Given the description of an element on the screen output the (x, y) to click on. 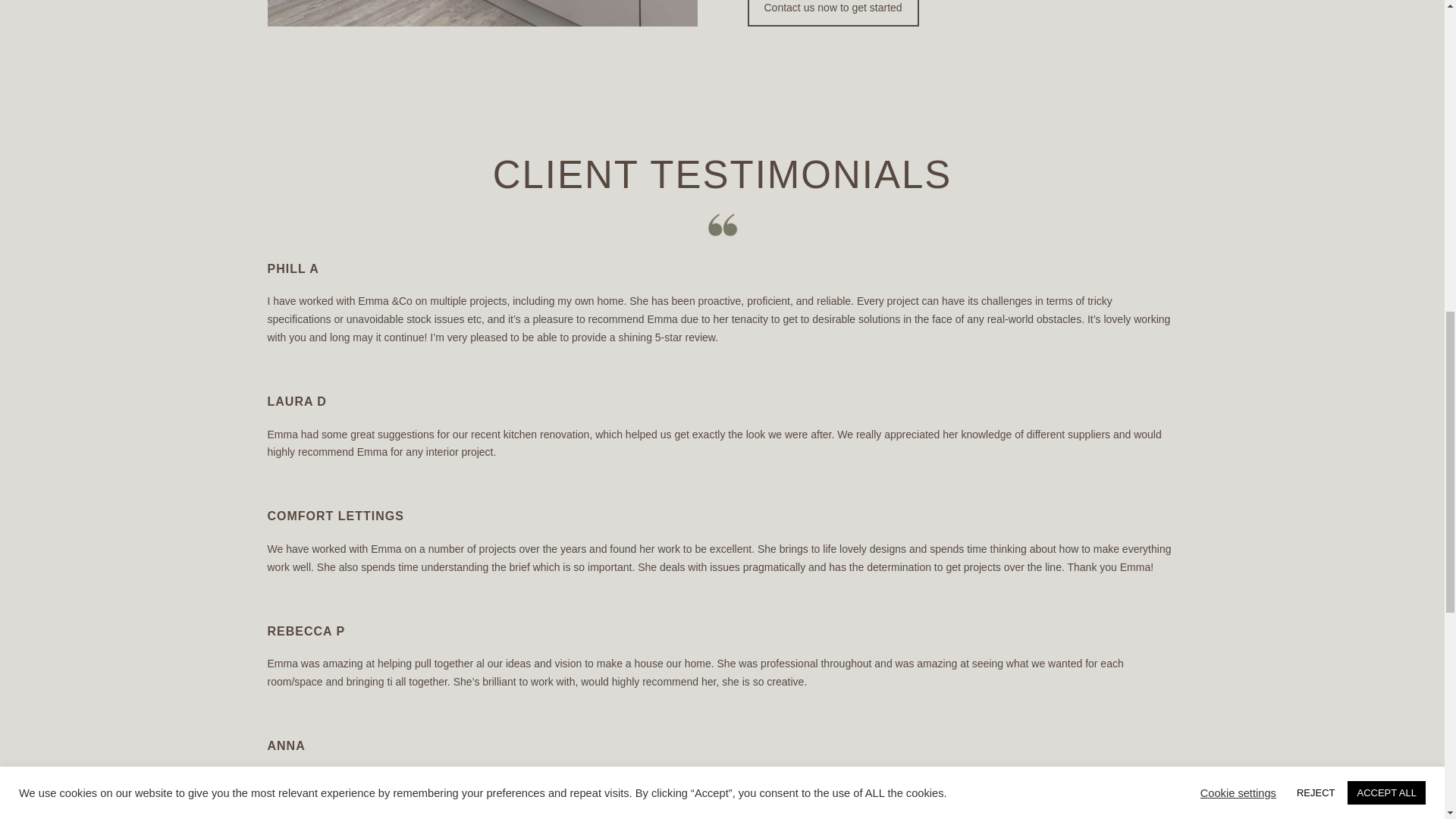
Screenshot 2023-05-02 at 21.08.39 (721, 233)
Contact us now to get started (833, 13)
